Given the description of an element on the screen output the (x, y) to click on. 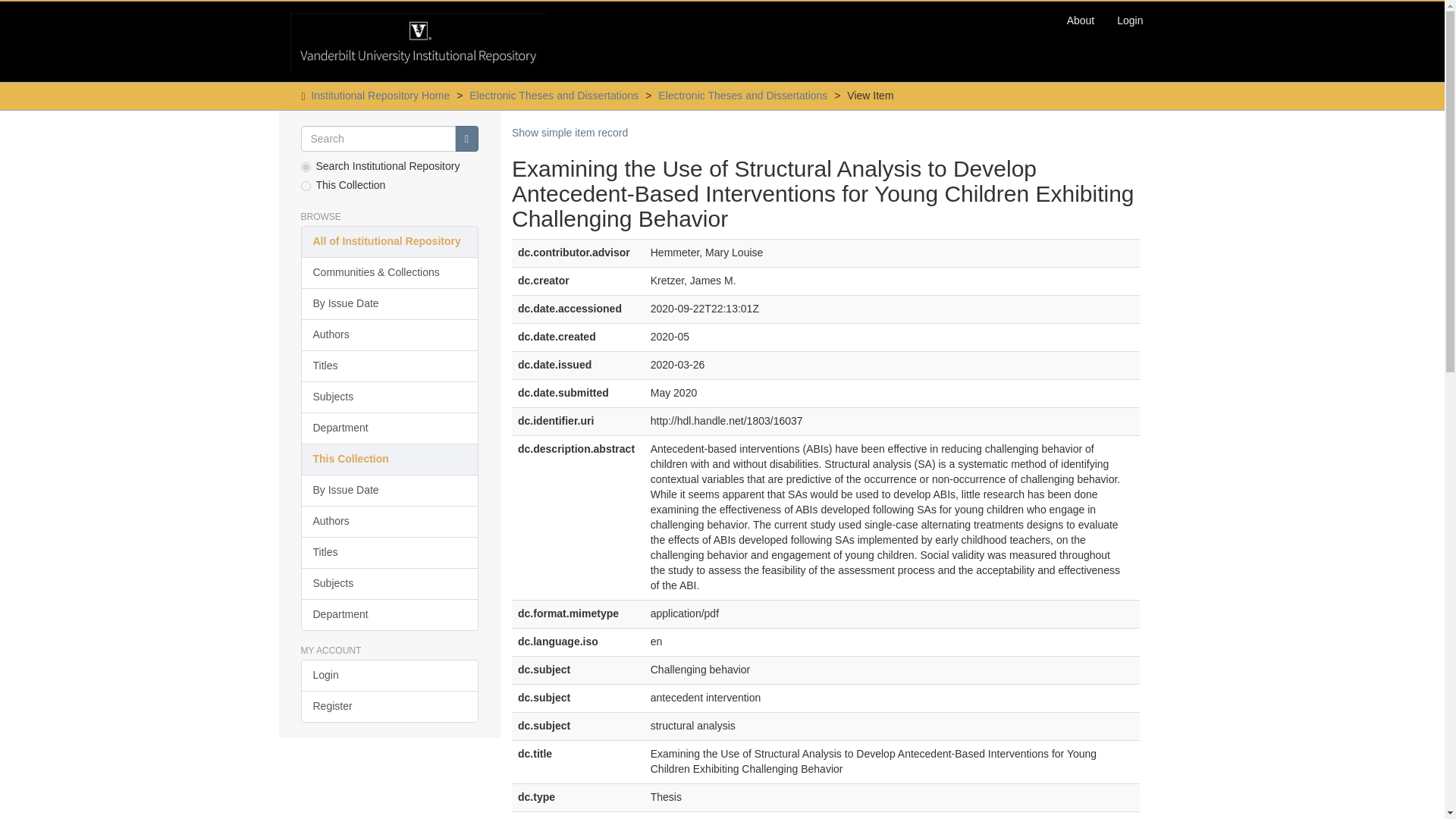
About (1080, 20)
By Issue Date (389, 304)
Electronic Theses and Dissertations (742, 95)
Subjects (389, 583)
Register (389, 706)
By Issue Date (389, 490)
Institutional Repository Home (380, 95)
Titles (389, 552)
Login (389, 675)
Authors (389, 335)
